Given the description of an element on the screen output the (x, y) to click on. 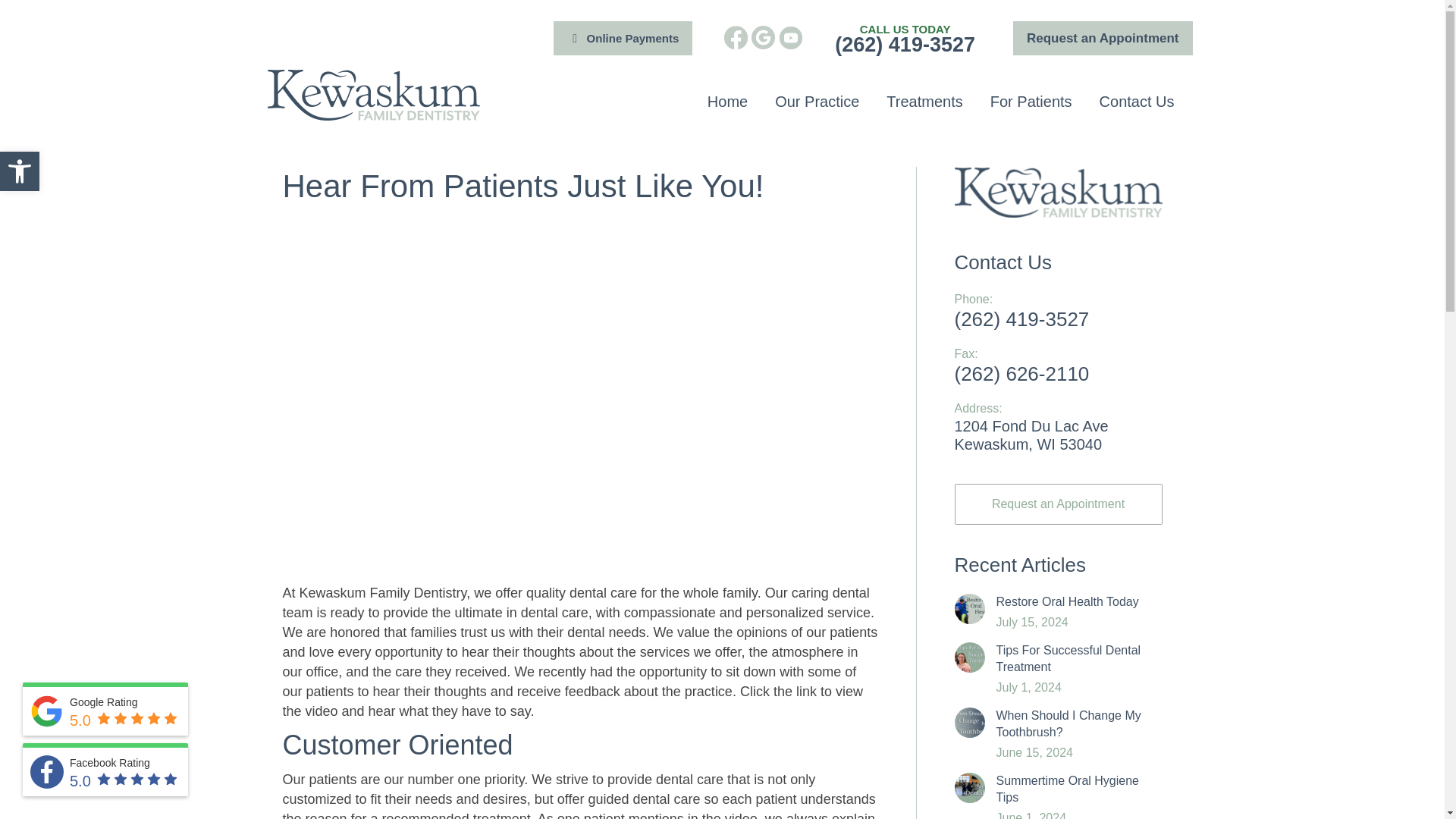
Treatments (924, 101)
Our Practice (816, 101)
Online Payments (623, 38)
Request an Appointment (1057, 504)
Patient Testimonials - Kewaskum Family Dentistry (19, 170)
Accessibility Tools (727, 101)
Accessibility Tools (19, 170)
Request an Appointment (19, 170)
